Given the description of an element on the screen output the (x, y) to click on. 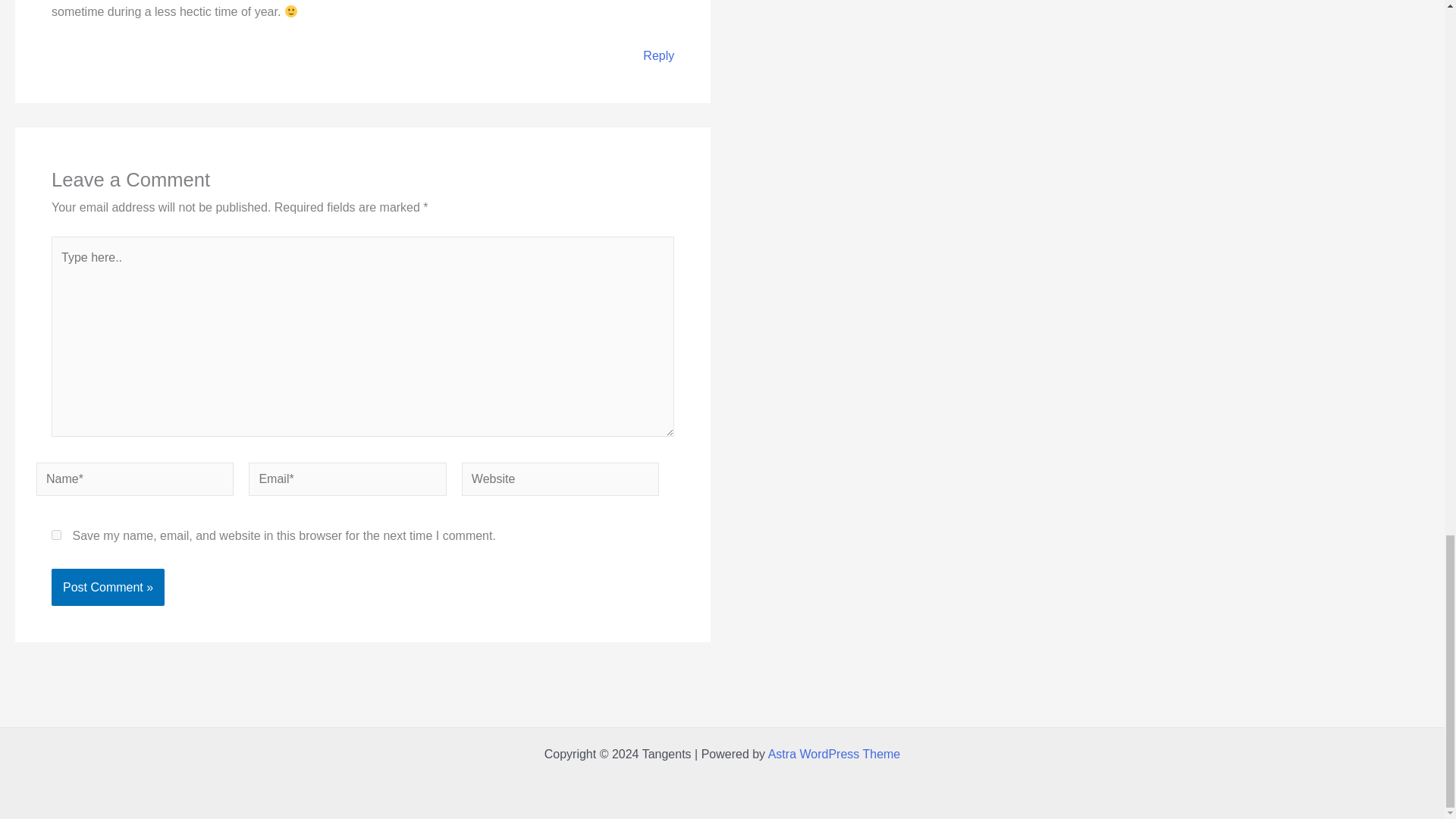
Astra WordPress Theme (834, 753)
yes (55, 534)
Reply (658, 55)
